Given the description of an element on the screen output the (x, y) to click on. 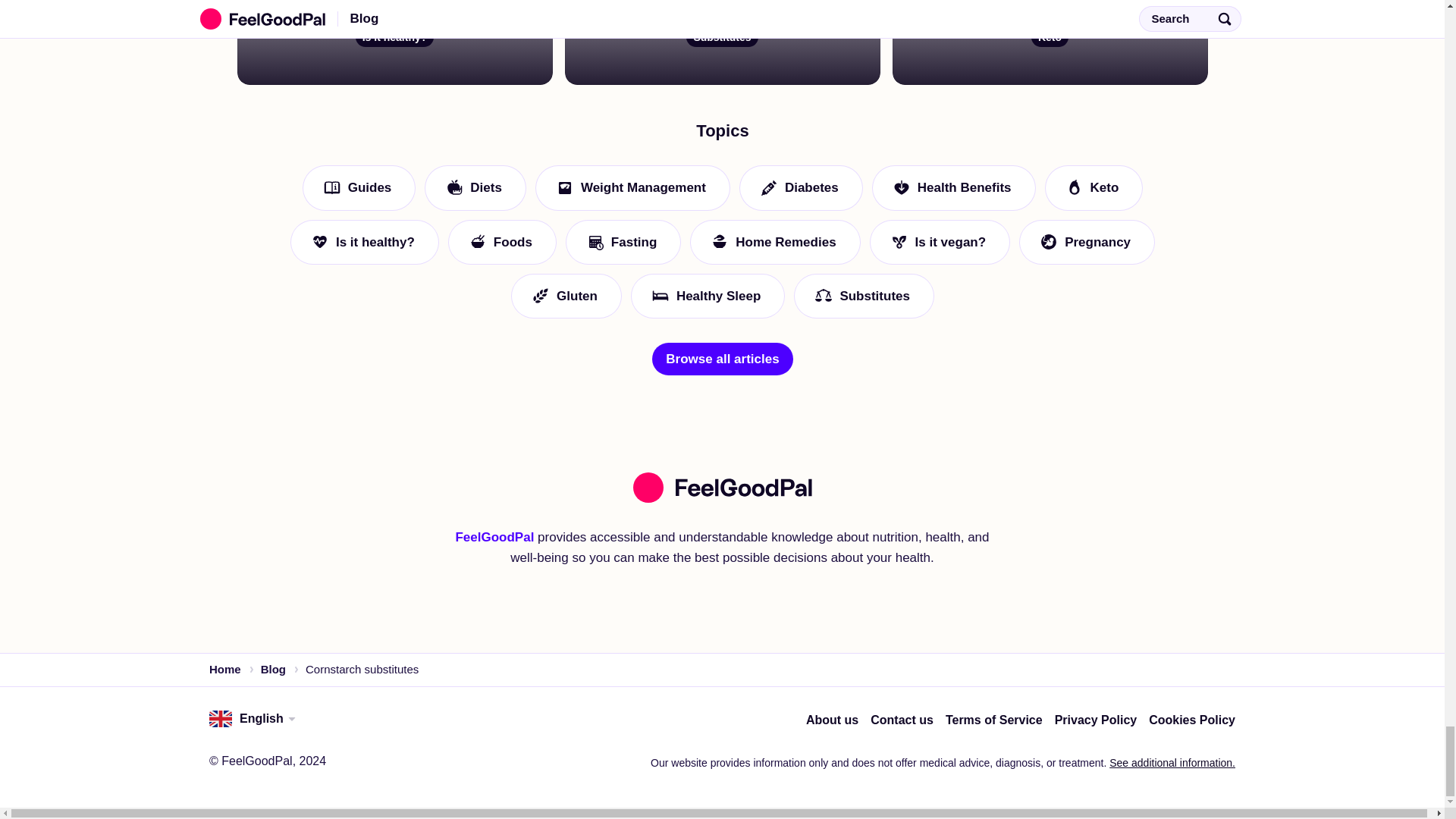
Diabetes (799, 504)
Guides (357, 504)
Keto (1092, 504)
Health Benefits (952, 504)
Weight Management (631, 504)
Diets (475, 504)
